Given the description of an element on the screen output the (x, y) to click on. 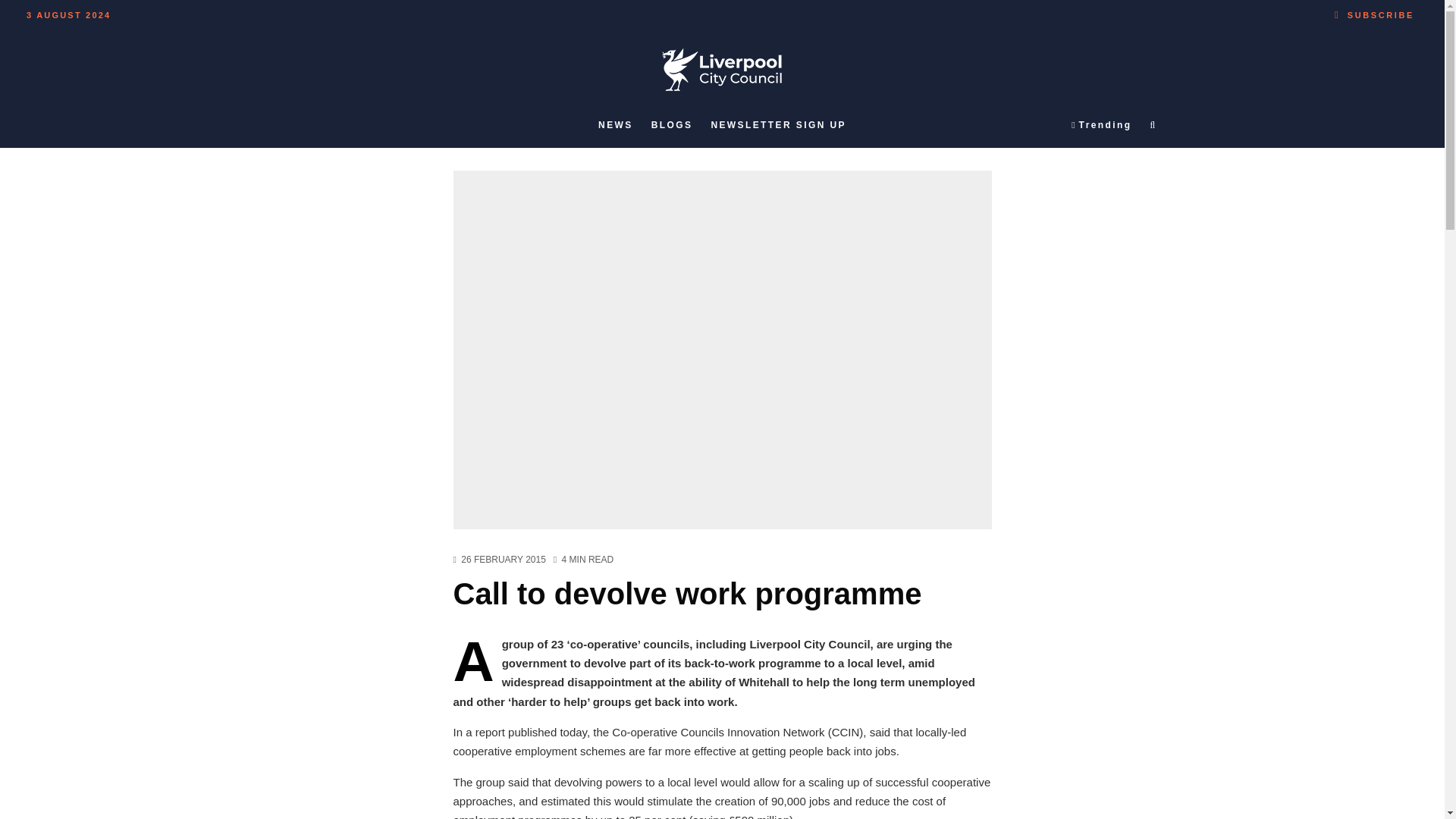
NEWS (615, 125)
SUBSCRIBE (1374, 11)
NEWSLETTER SIGN UP (778, 125)
Trending (1101, 125)
BLOGS (671, 125)
